Given the description of an element on the screen output the (x, y) to click on. 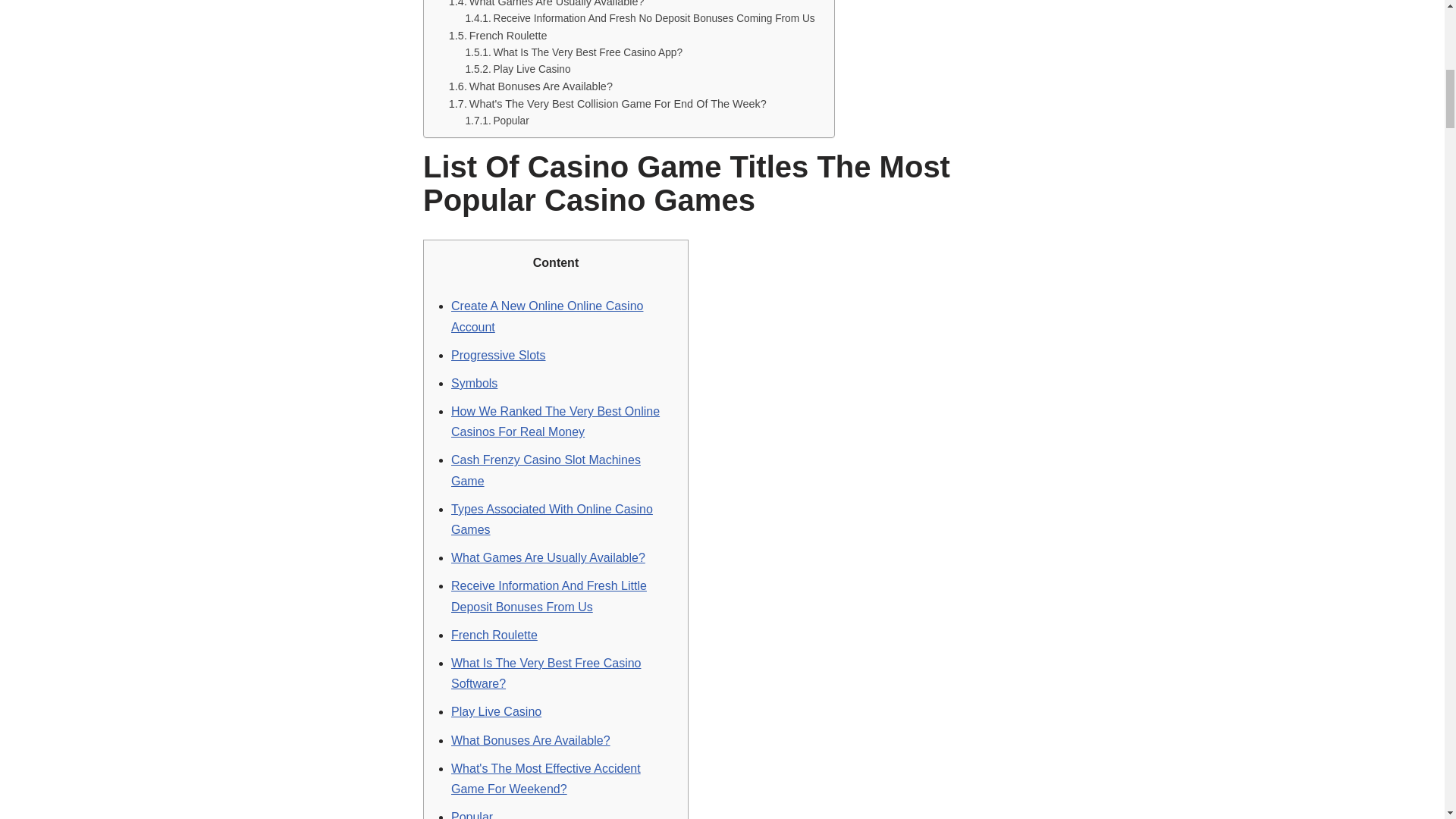
French Roulette (497, 36)
What Games Are Usually Available?  (546, 5)
